Given the description of an element on the screen output the (x, y) to click on. 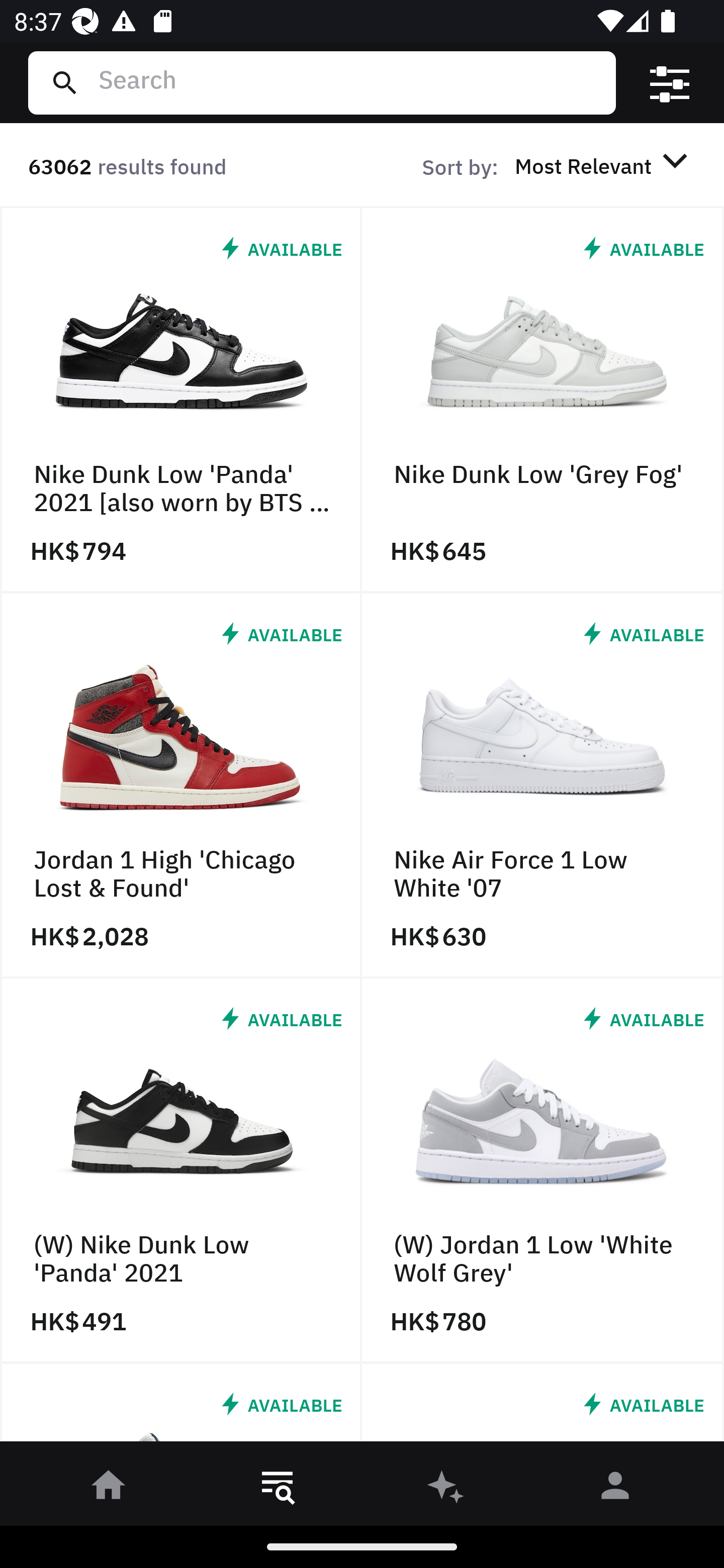
Search (349, 82)
 (669, 82)
Most Relevant  (604, 165)
 AVAILABLE Nike Dunk Low 'Grey Fog' HK$ 645 (543, 399)
 AVAILABLE Nike Air Force 1 Low White '07 HK$ 630 (543, 785)
 AVAILABLE (W) Nike Dunk Low 'Panda' 2021 HK$ 491 (181, 1171)
󰋜 (108, 1488)
󱎸 (277, 1488)
󰫢 (446, 1488)
󰀄 (615, 1488)
